Given the description of an element on the screen output the (x, y) to click on. 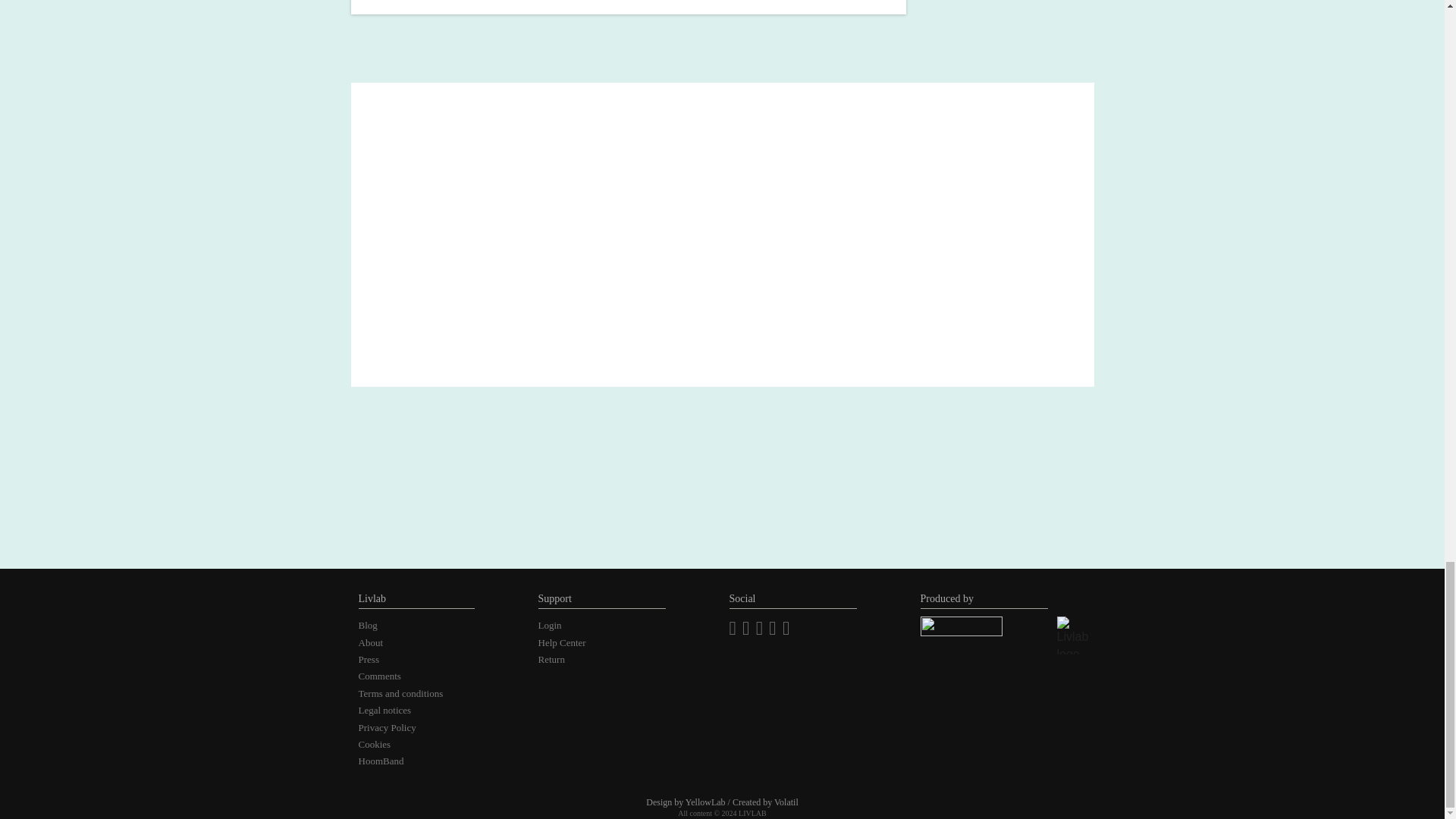
Privacy Policy (386, 727)
Legal notices (384, 709)
Cookies (374, 744)
Terms and conditions (400, 693)
Login (550, 624)
Return (551, 659)
fb:like Facebook Social Plugin (763, 649)
About (370, 642)
HoomBand (380, 760)
Help Center (562, 642)
Comments (379, 675)
Blog (367, 624)
Press (368, 659)
